Given the description of an element on the screen output the (x, y) to click on. 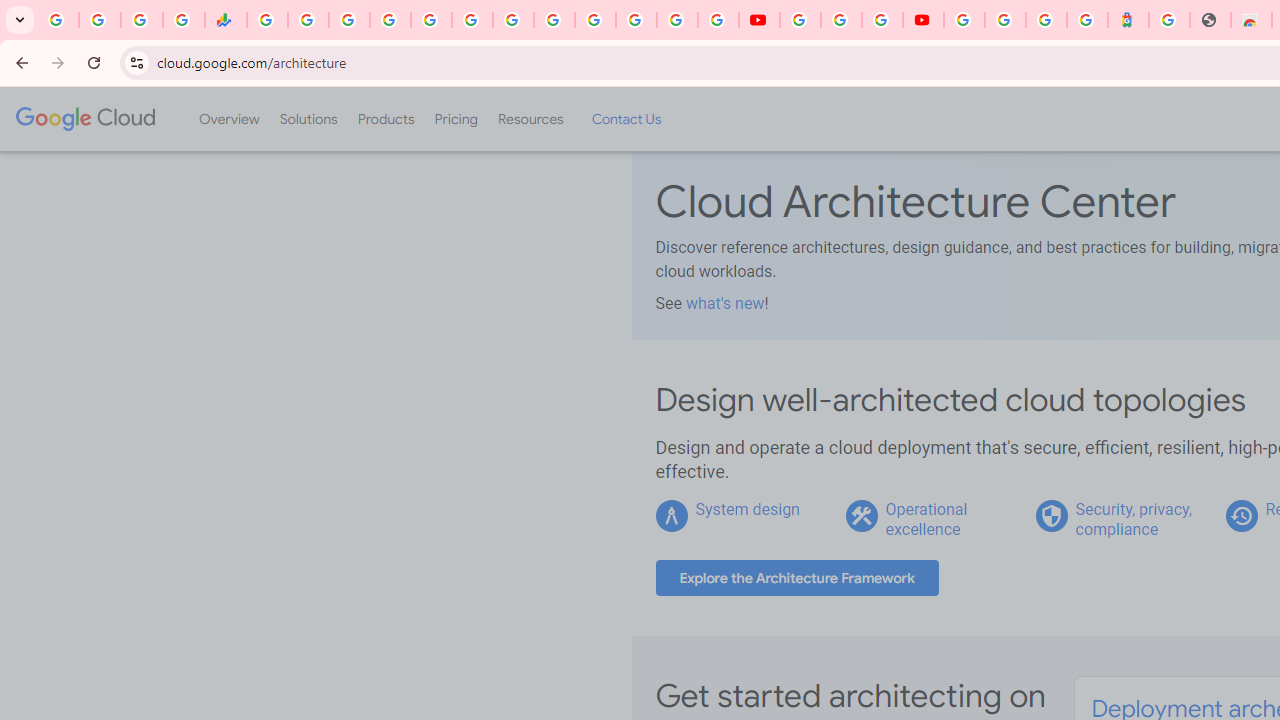
Google Account Help (840, 20)
Android TV Policies and Guidelines - Transparency Center (512, 20)
Operational excellence (925, 519)
YouTube (758, 20)
Content Creator Programs & Opportunities - YouTube Creators (923, 20)
Sign in - Google Accounts (964, 20)
Solutions (308, 119)
